Given the description of an element on the screen output the (x, y) to click on. 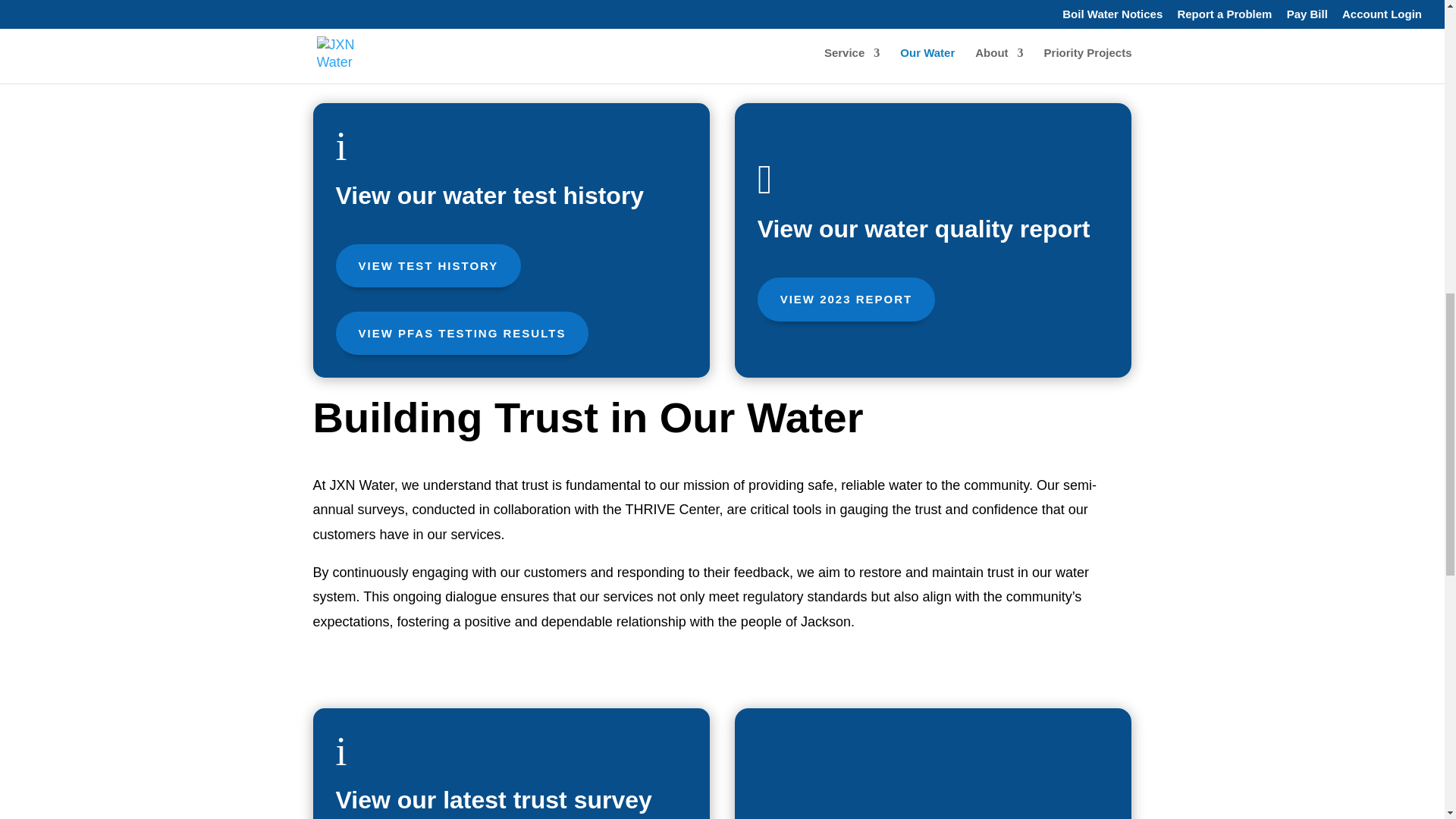
VIEW 2023 REPORT (846, 299)
VIEW PFAS TESTING RESULTS (461, 332)
VIEW TEST HISTORY (427, 266)
